Given the description of an element on the screen output the (x, y) to click on. 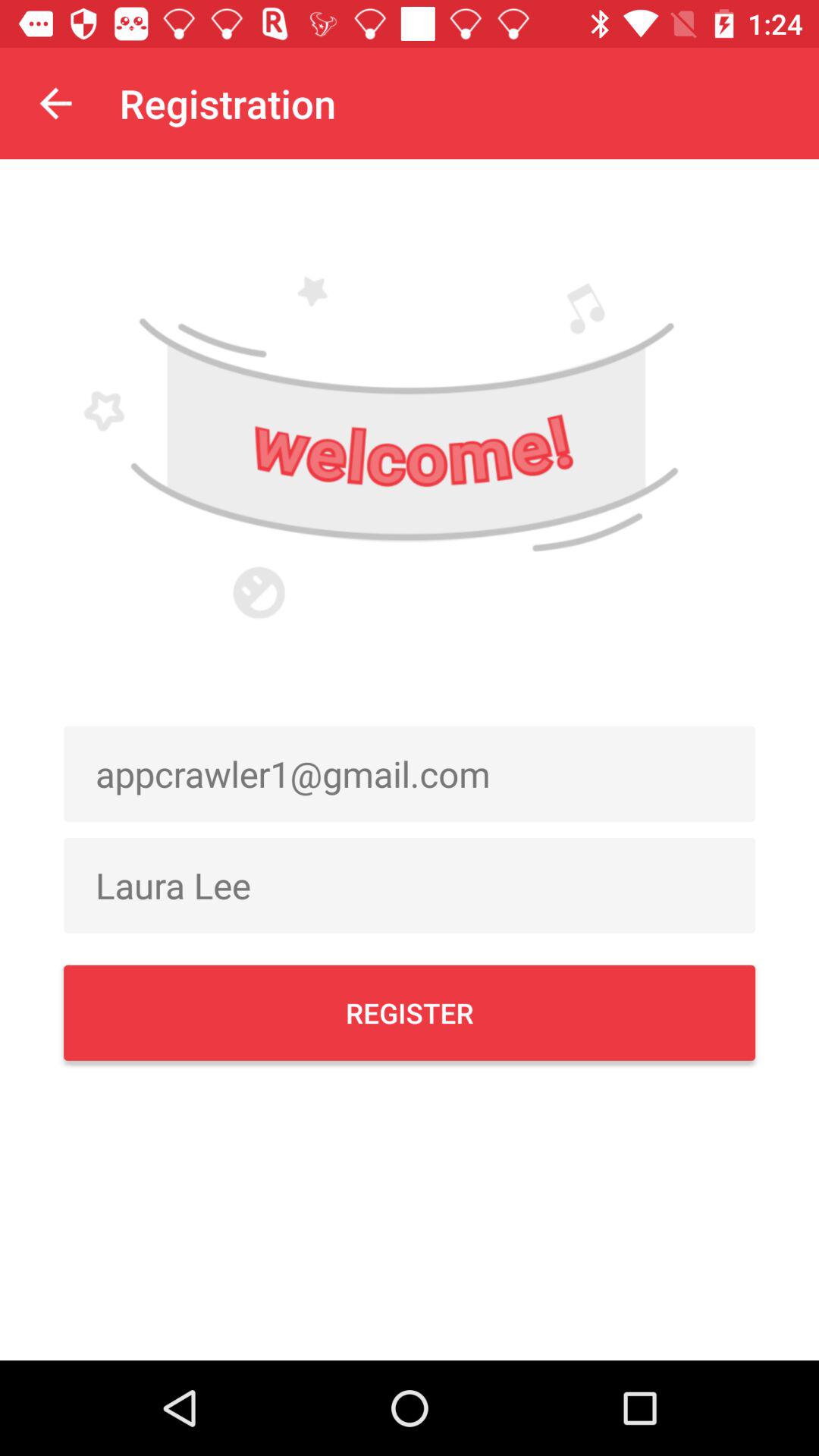
flip to appcrawler1@gmail.com (409, 773)
